Given the description of an element on the screen output the (x, y) to click on. 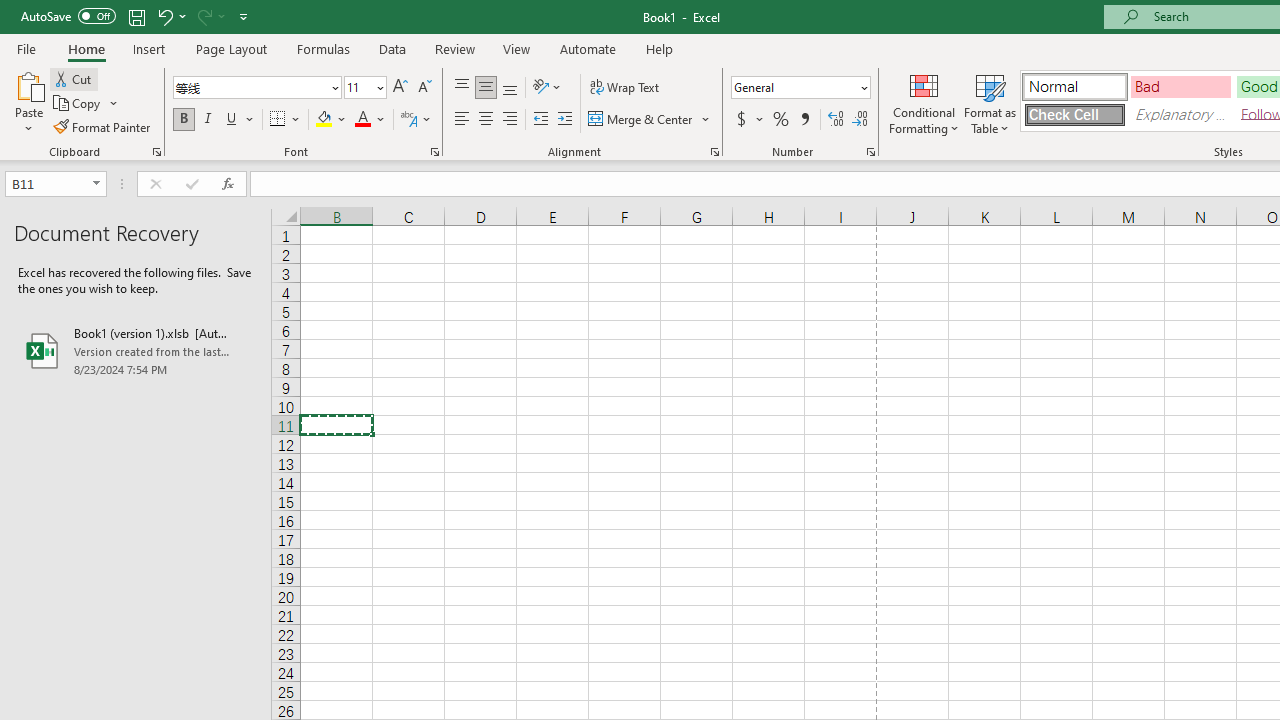
Decrease Decimal (859, 119)
Comma Style (804, 119)
Fill Color RGB(255, 255, 0) (324, 119)
Merge & Center (649, 119)
Font Size (365, 87)
Accounting Number Format (741, 119)
Underline (232, 119)
Fill Color (331, 119)
Bold (183, 119)
